Given the description of an element on the screen output the (x, y) to click on. 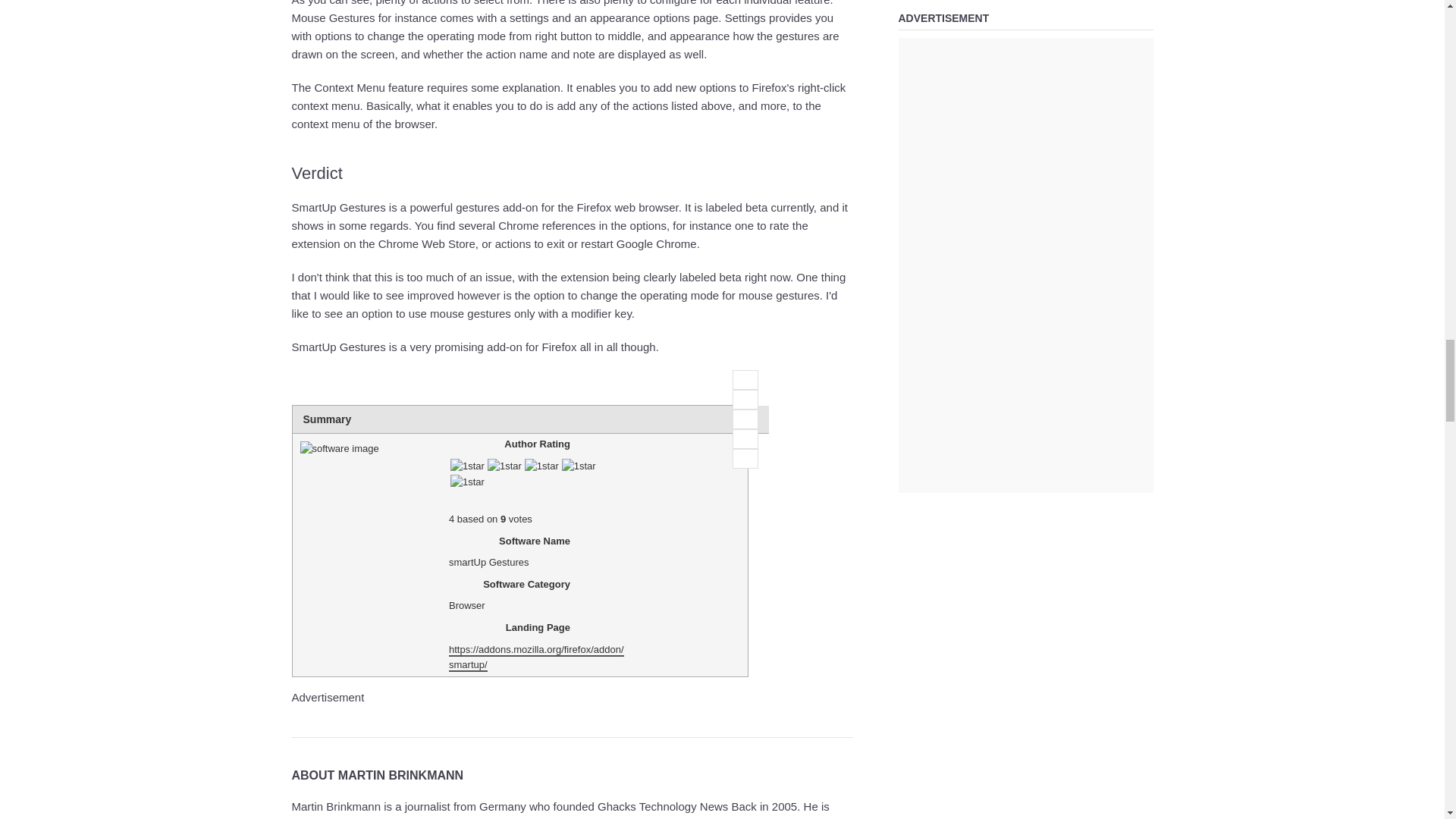
5 (745, 458)
2 (745, 399)
3 (745, 419)
4 (745, 438)
1 (745, 379)
